Given the description of an element on the screen output the (x, y) to click on. 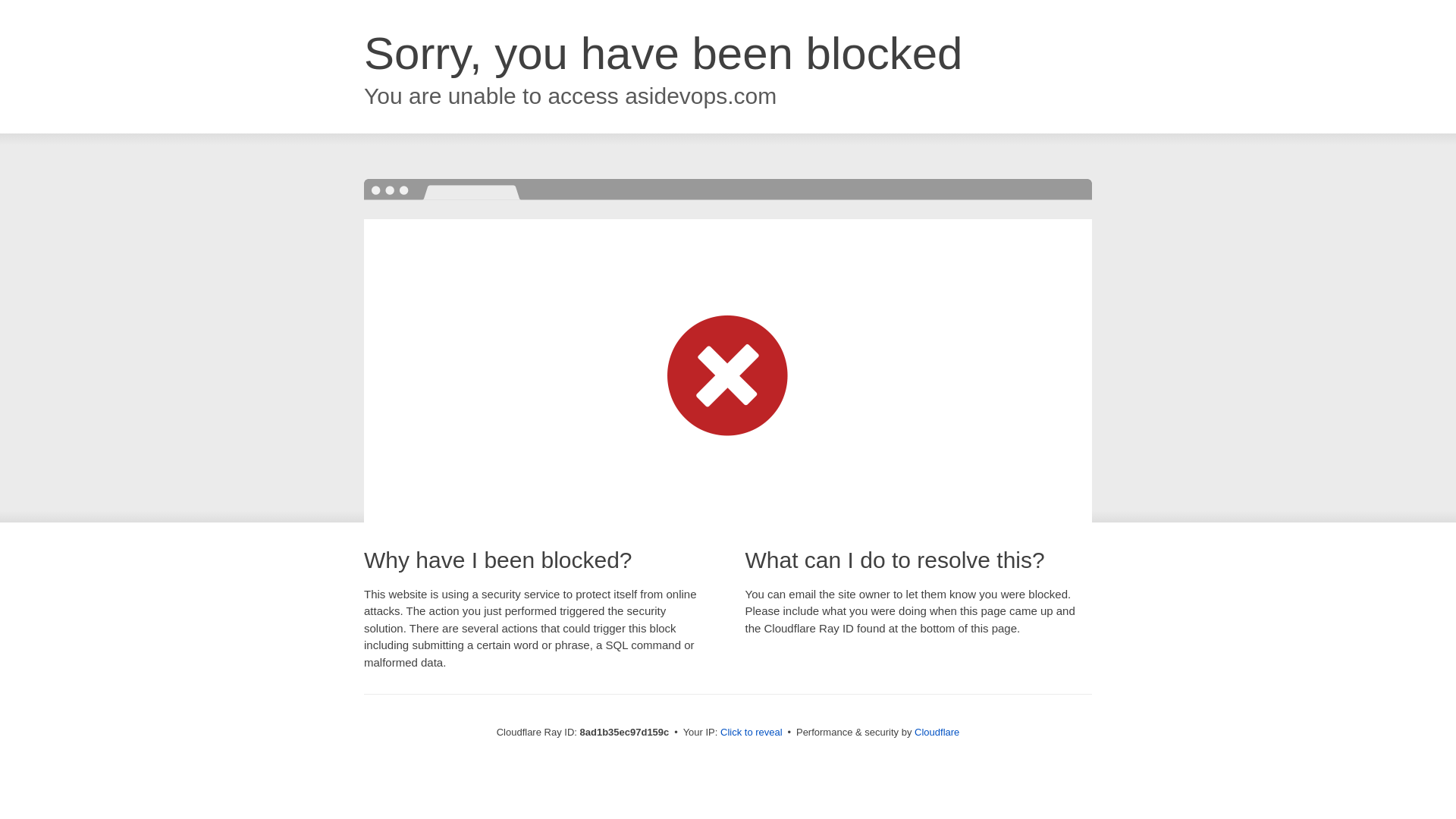
Cloudflare (936, 731)
Click to reveal (751, 732)
